Given the description of an element on the screen output the (x, y) to click on. 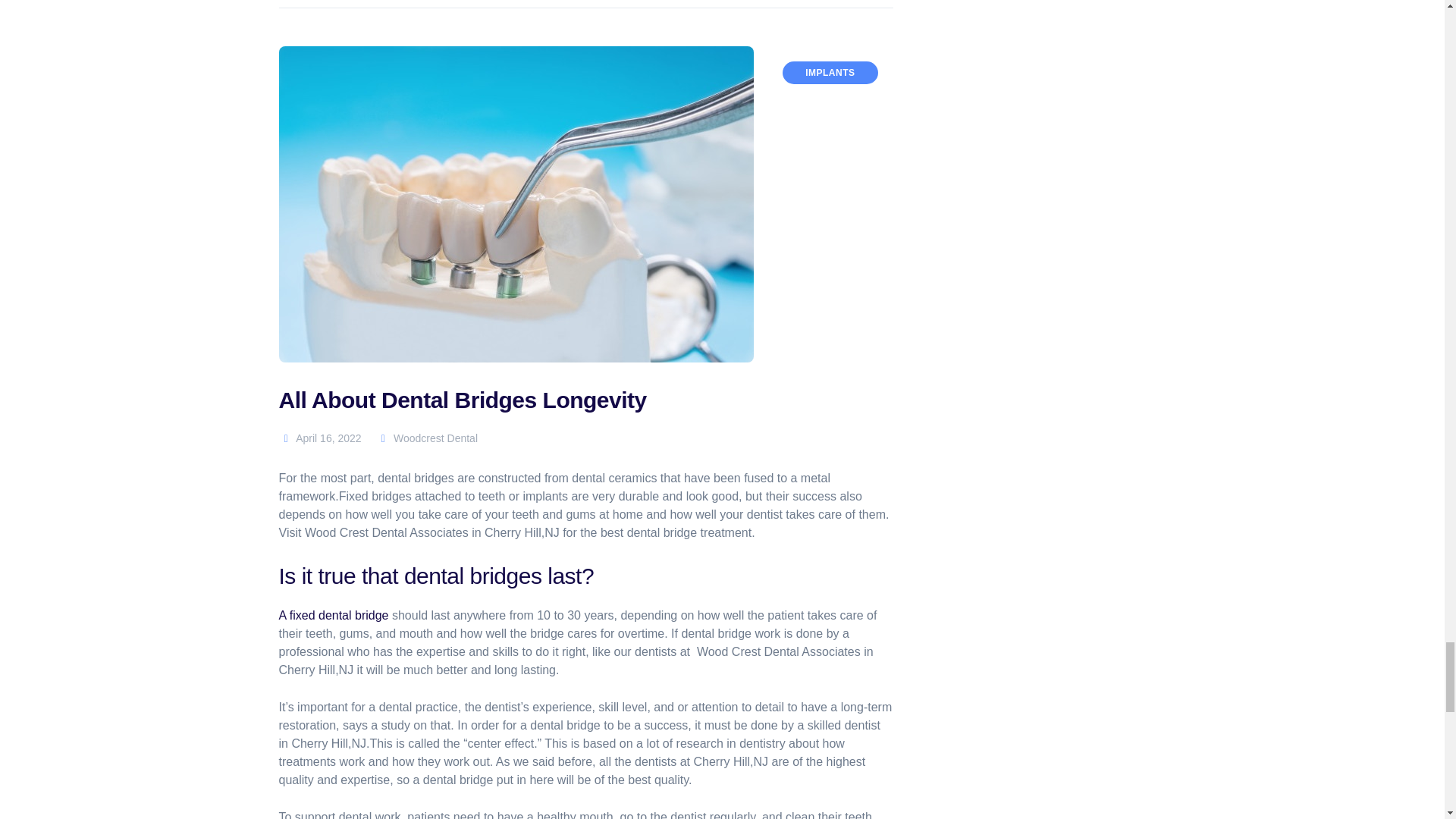
Posted by Woodcrest Dental (427, 438)
